Given the description of an element on the screen output the (x, y) to click on. 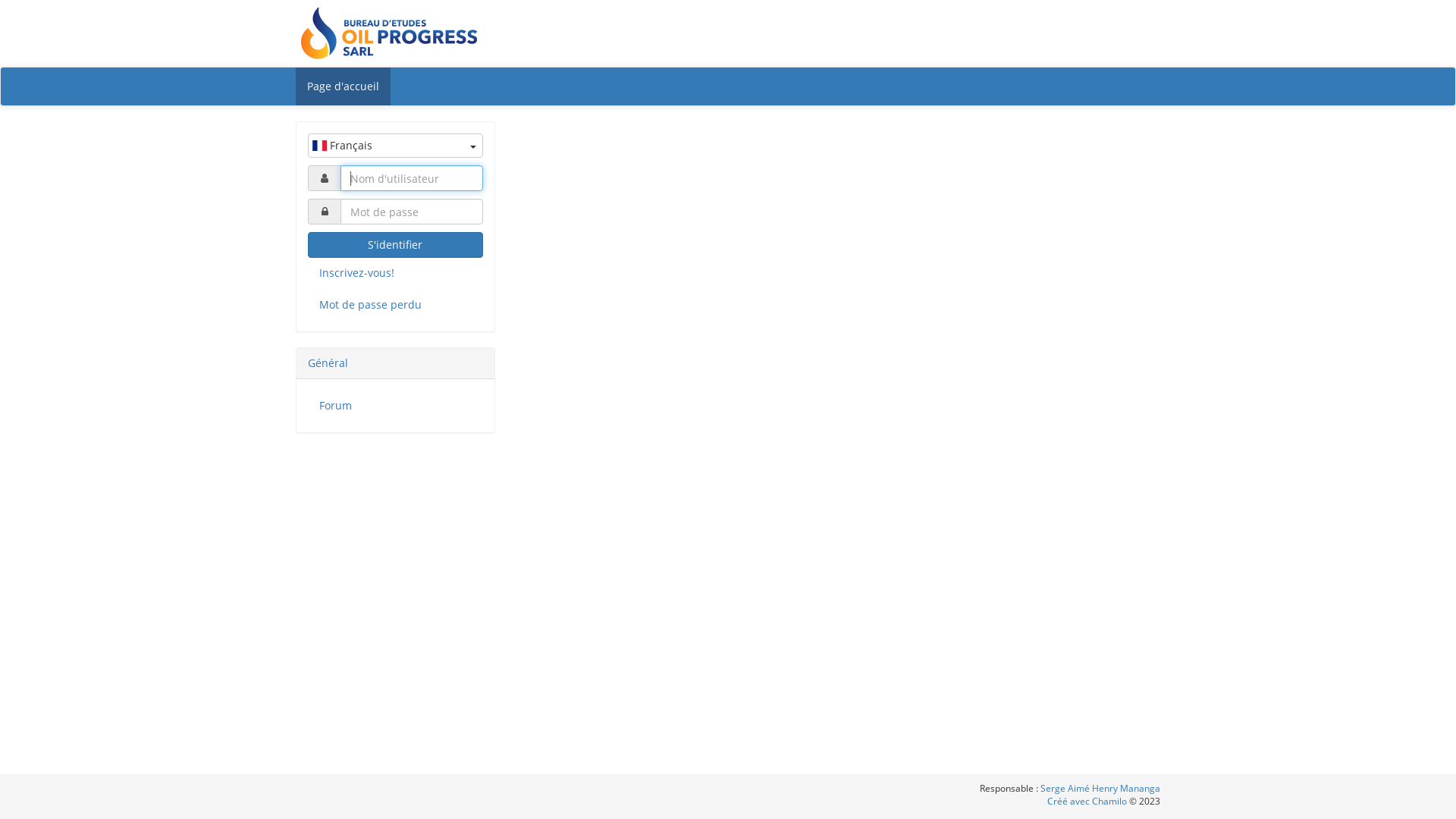
Page d'accueil Element type: text (342, 86)
Inscrivez-vous! Element type: text (395, 272)
S'identifier Element type: text (395, 244)
Mot de passe perdu Element type: text (395, 304)
Forum Element type: text (395, 405)
